Given the description of an element on the screen output the (x, y) to click on. 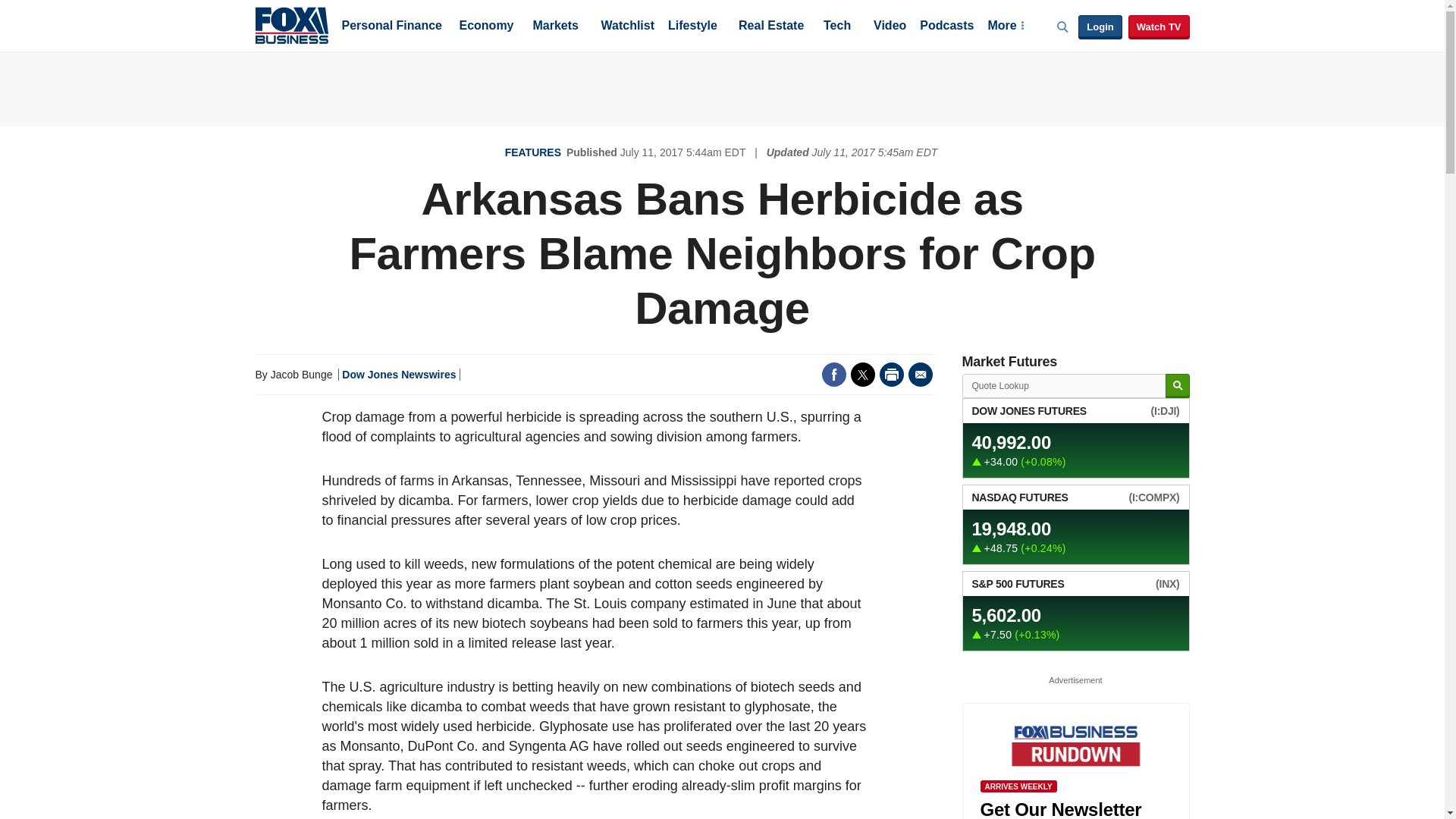
Search (1176, 385)
Markets (555, 27)
Login (1099, 27)
Podcasts (947, 27)
Tech (837, 27)
Lifestyle (692, 27)
Video (889, 27)
Personal Finance (391, 27)
Watchlist (626, 27)
Fox Business (290, 24)
Economy (486, 27)
Watch TV (1158, 27)
Real Estate (770, 27)
Search (1176, 385)
More (1005, 27)
